Given the description of an element on the screen output the (x, y) to click on. 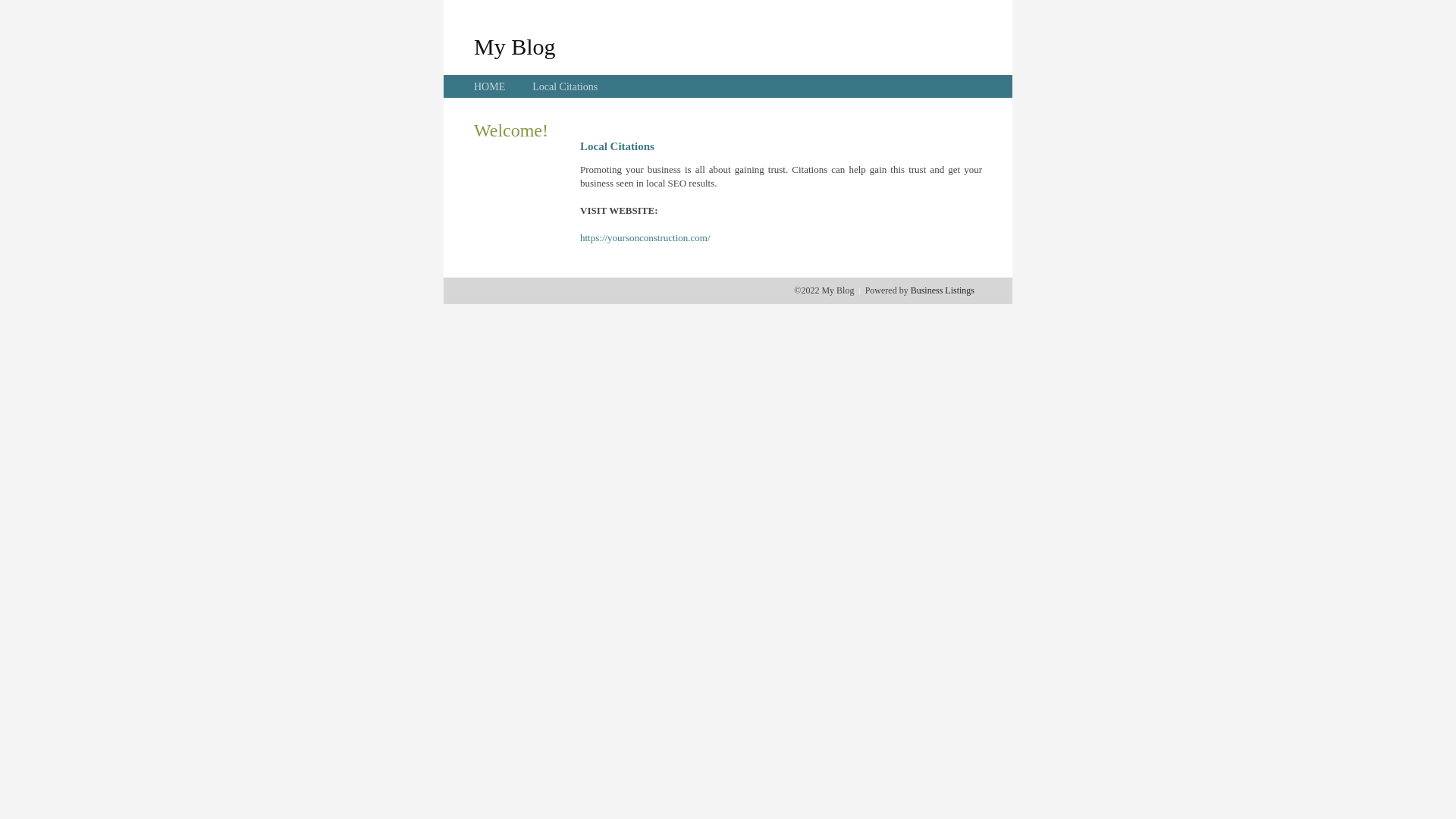
Business Listings Element type: text (942, 290)
My Blog Element type: text (514, 46)
HOME Element type: text (489, 86)
Local Citations Element type: text (564, 86)
https://yoursonconstruction.com/ Element type: text (645, 237)
